Given the description of an element on the screen output the (x, y) to click on. 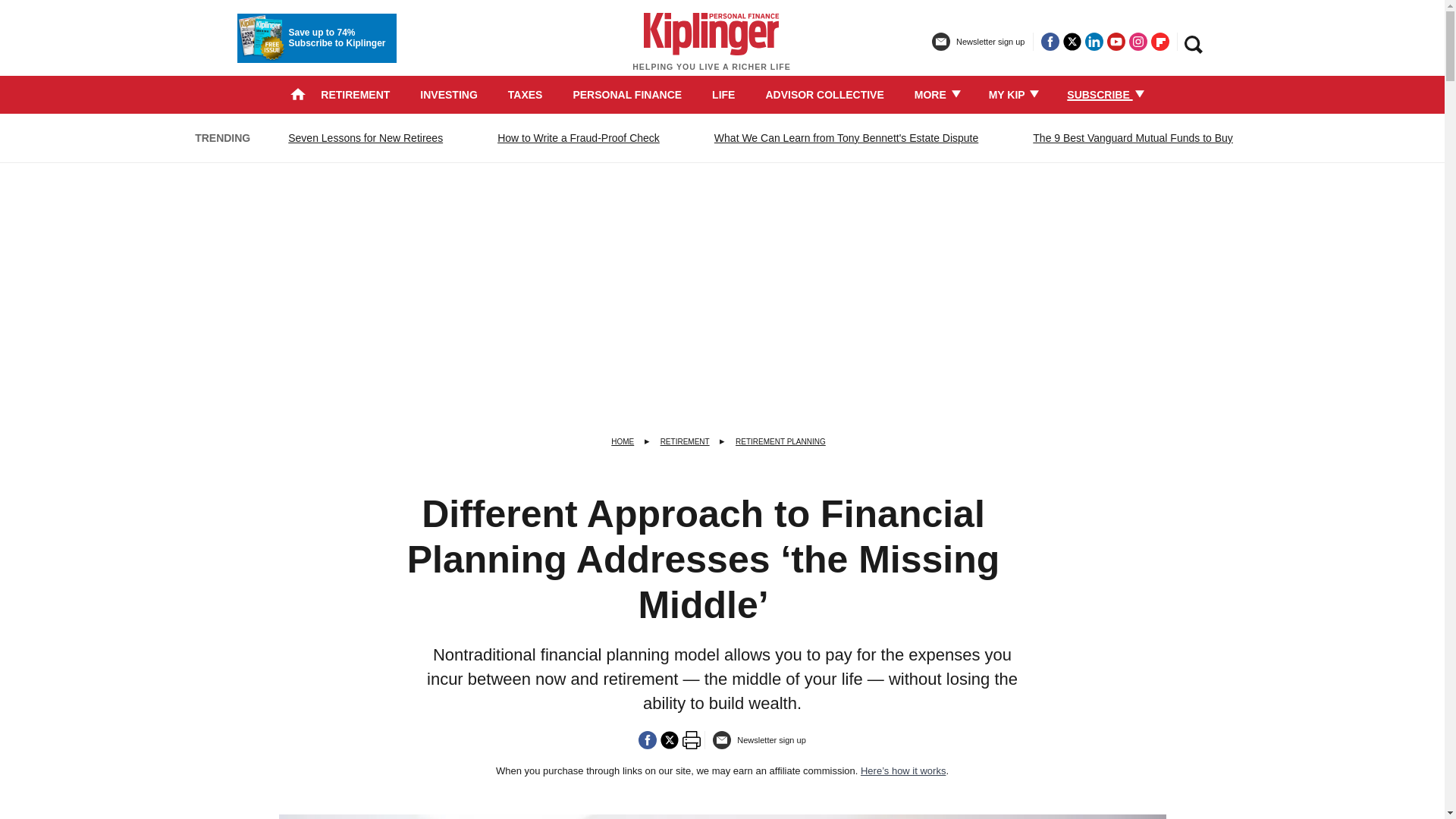
HELPING YOU LIVE A RICHER LIFE (710, 48)
INVESTING (448, 94)
RETIREMENT (355, 94)
LIFE (723, 94)
TAXES (525, 94)
PERSONAL FINANCE (626, 94)
